Given the description of an element on the screen output the (x, y) to click on. 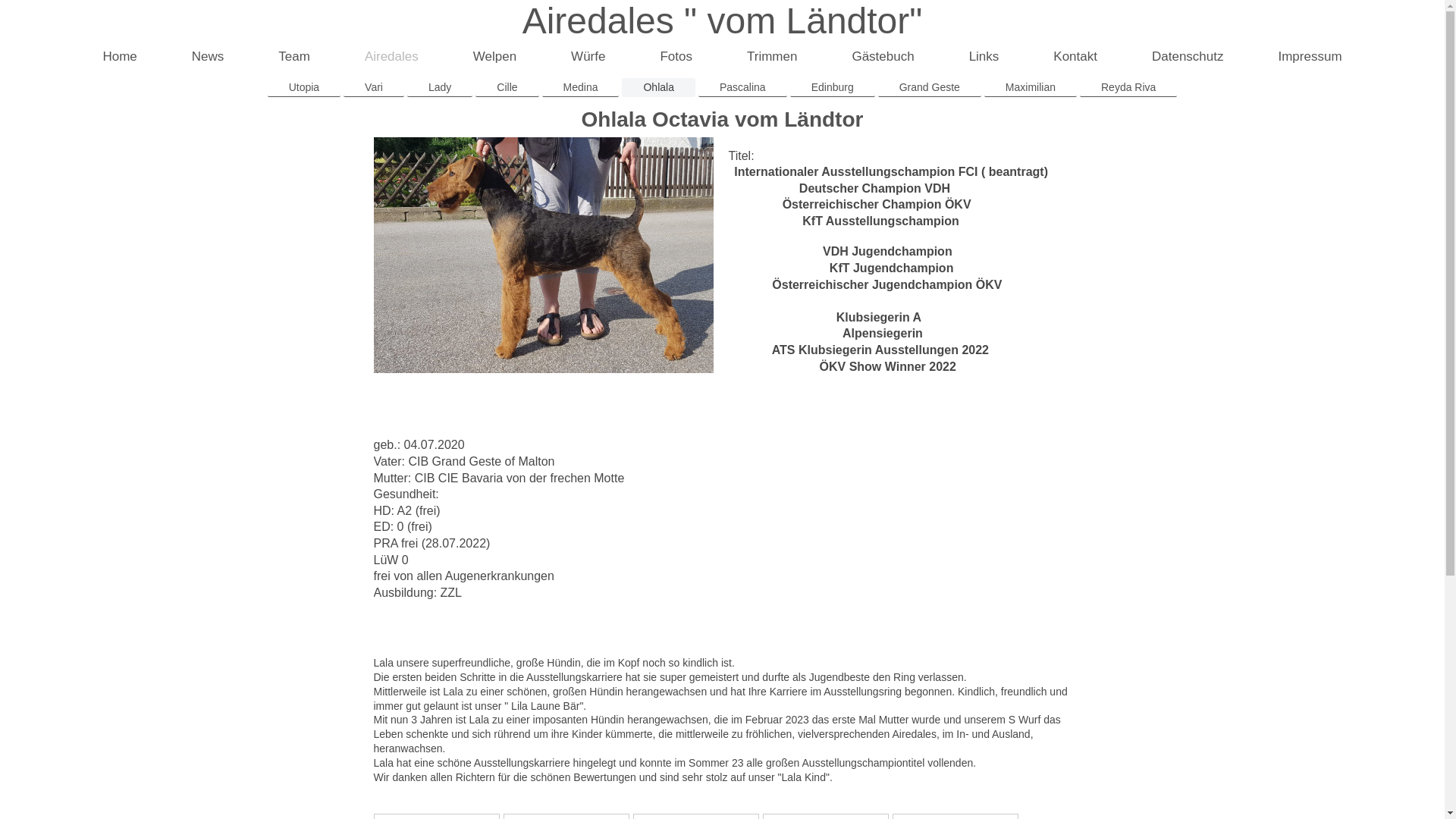
Maximilian Element type: text (1030, 87)
Ohlala Element type: text (657, 87)
Trimmen Element type: text (771, 57)
News Element type: text (208, 57)
Medina Element type: text (580, 87)
Impressum Element type: text (1309, 57)
Grand Geste Element type: text (929, 87)
Fotos Element type: text (675, 57)
Edinburg Element type: text (832, 87)
Home Element type: text (119, 57)
Reyda Riva Element type: text (1127, 87)
Welpen Element type: text (494, 57)
Kontakt Element type: text (1075, 57)
Vari Element type: text (373, 87)
Team Element type: text (293, 57)
Links Element type: text (984, 57)
Datenschutz Element type: text (1187, 57)
Utopia Element type: text (303, 87)
Lady Element type: text (439, 87)
Airedales Element type: text (391, 57)
Cille Element type: text (506, 87)
Pascalina Element type: text (742, 87)
